Given the description of an element on the screen output the (x, y) to click on. 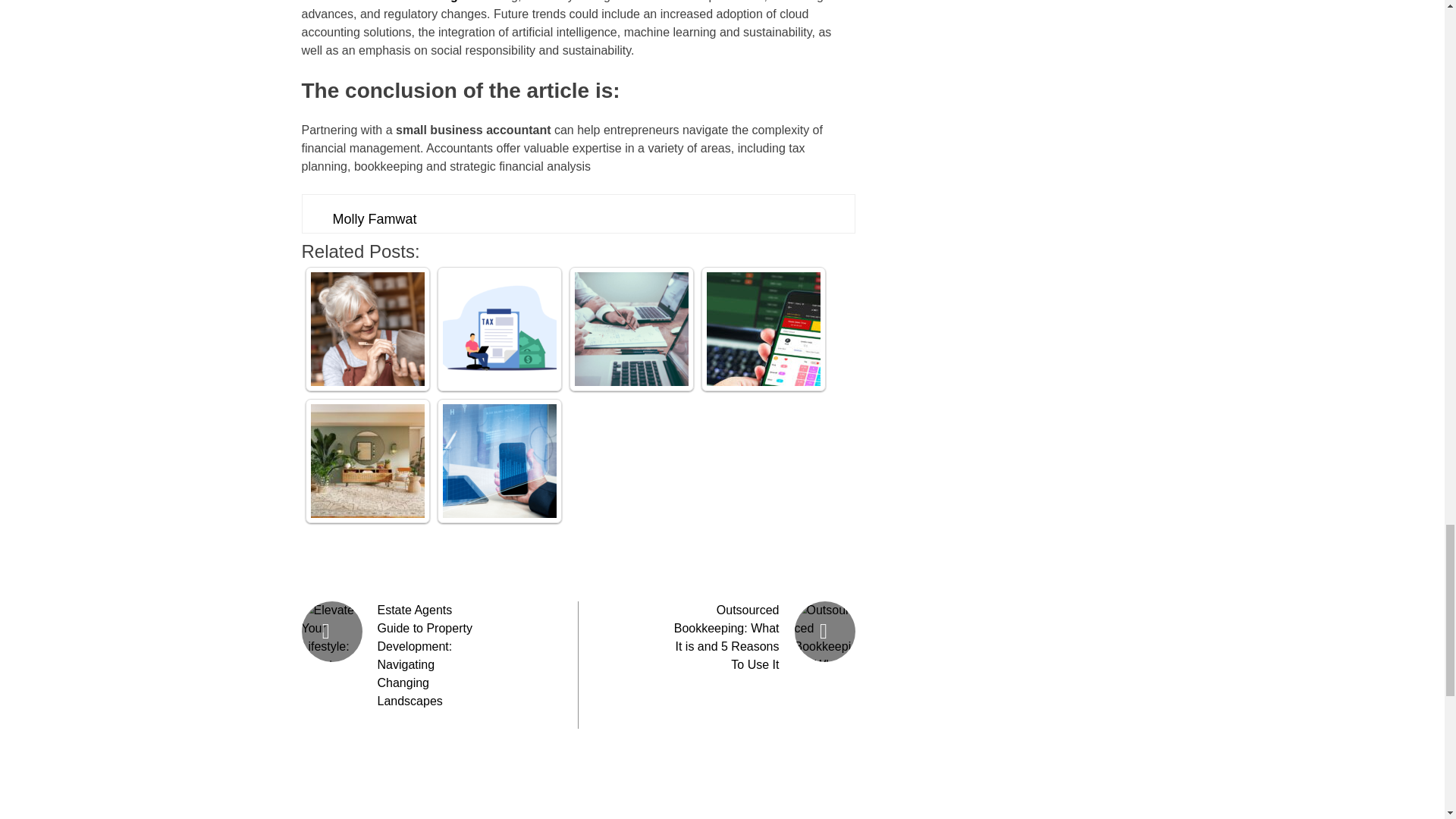
Outsourced Bookkeeping: What It is and 5 Reasons To Use It (726, 636)
Small business accounting (379, 1)
6 Relaxing Hobbies for Small Business Owners (368, 328)
Molly Famwat (373, 218)
Home Decor Ideas For Small Spaces (368, 460)
